Given the description of an element on the screen output the (x, y) to click on. 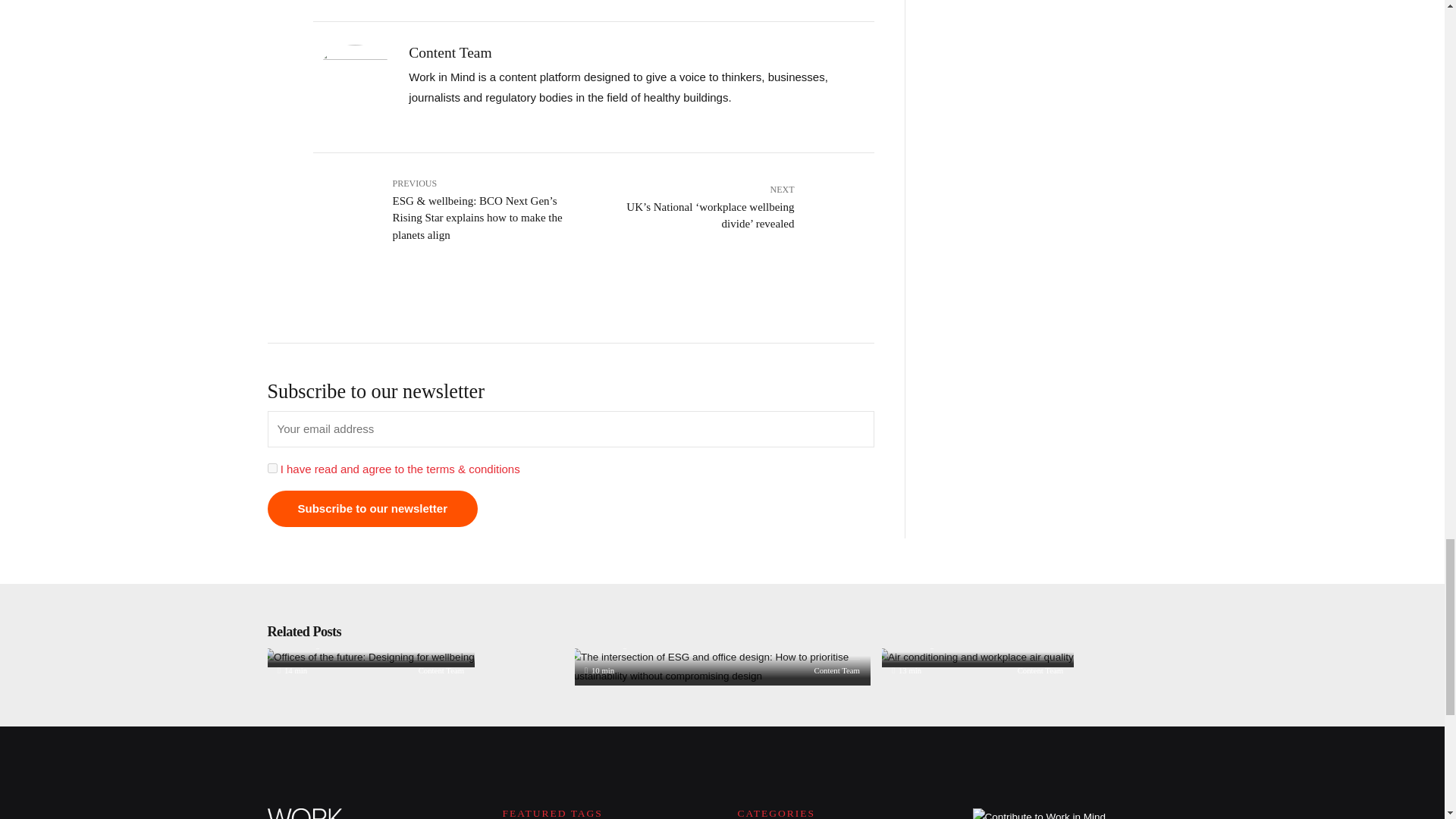
Subscribe to our newsletter (371, 508)
1 (271, 468)
Offices of the future: Designing for wellbeing (368, 657)
Air conditioning and workplace air quality (975, 657)
